Given the description of an element on the screen output the (x, y) to click on. 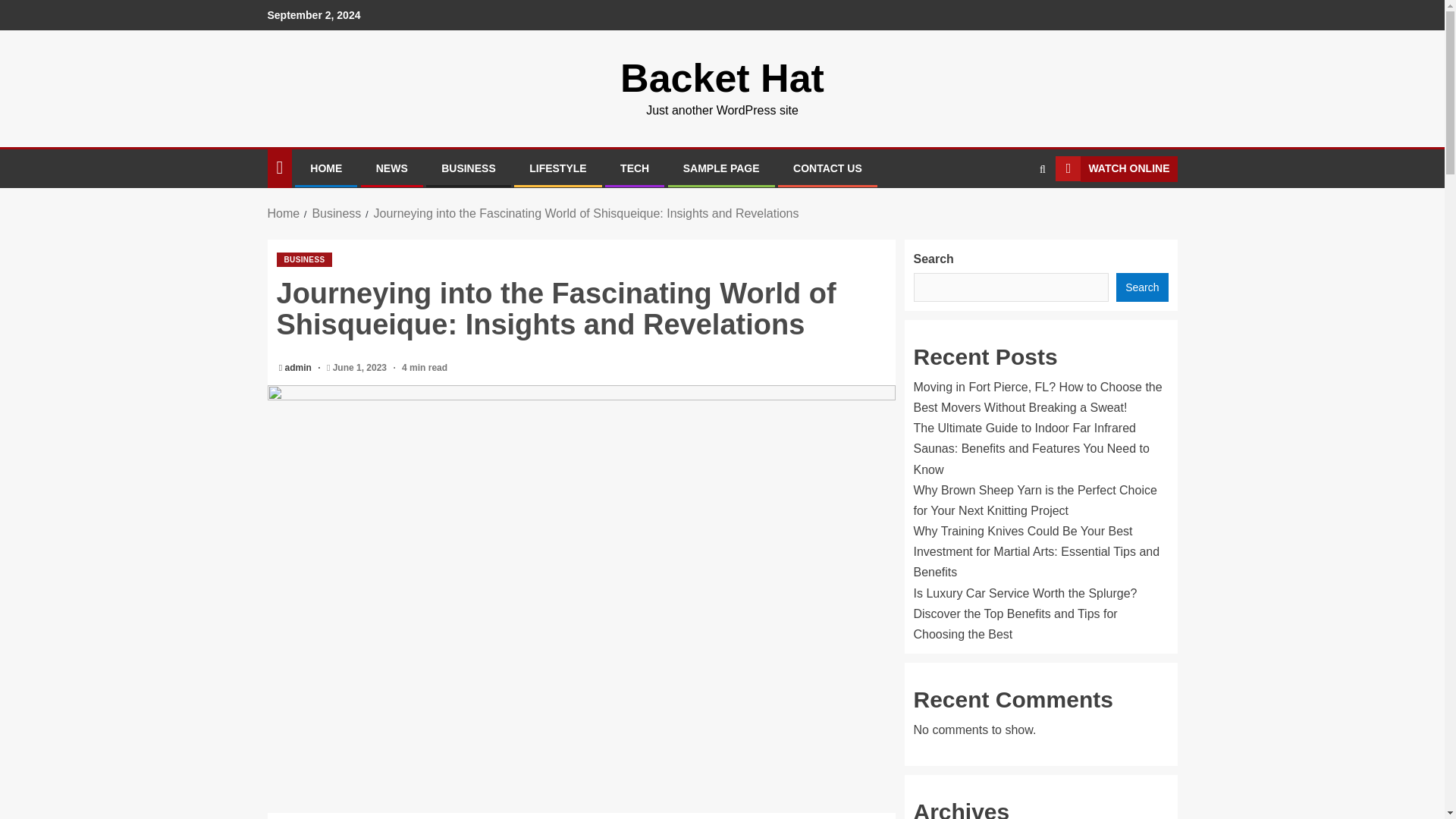
Home (282, 213)
BUSINESS (303, 259)
SAMPLE PAGE (721, 168)
NEWS (391, 168)
HOME (326, 168)
CONTACT US (827, 168)
admin (299, 367)
TECH (634, 168)
Business (336, 213)
